Given the description of an element on the screen output the (x, y) to click on. 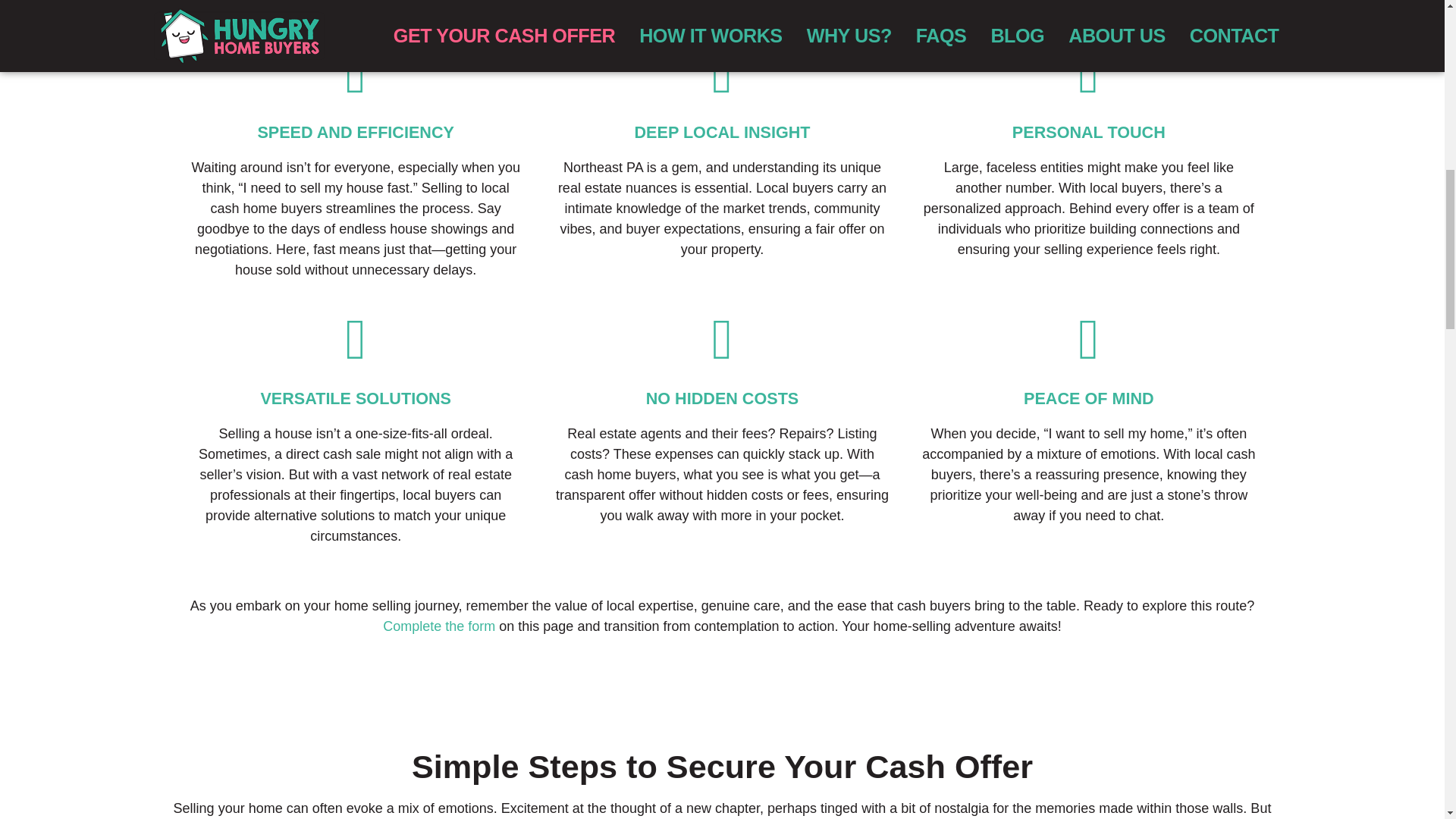
Complete the form (438, 626)
Get A Cash Offer For Your House (438, 626)
